Given the description of an element on the screen output the (x, y) to click on. 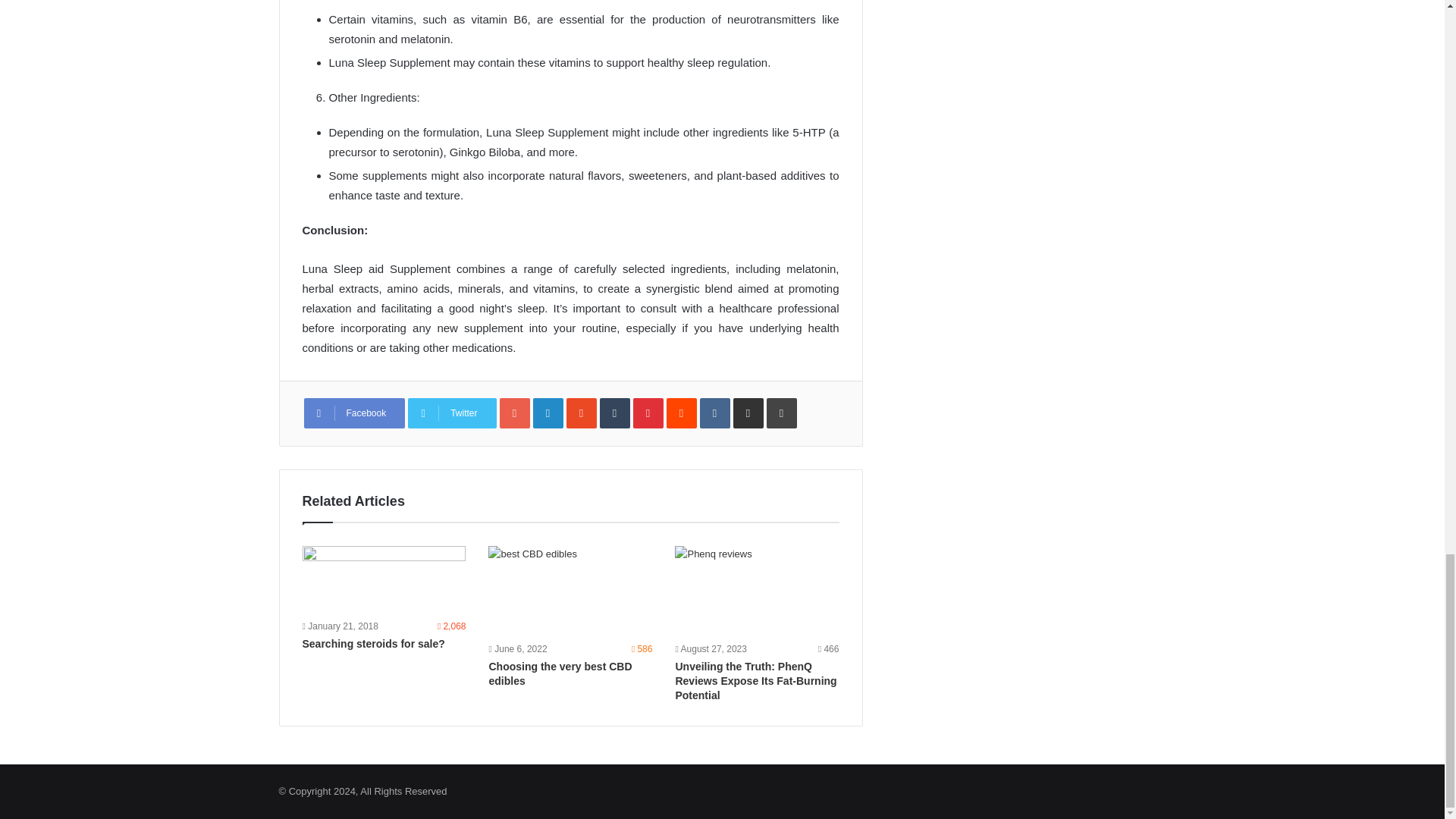
LinkedIn (547, 413)
Searching steroids for sale? (383, 580)
Pinterest (648, 413)
Tumblr (614, 413)
Twitter (451, 413)
StumbleUpon (581, 413)
Reddit (681, 413)
Facebook (353, 413)
